Given the description of an element on the screen output the (x, y) to click on. 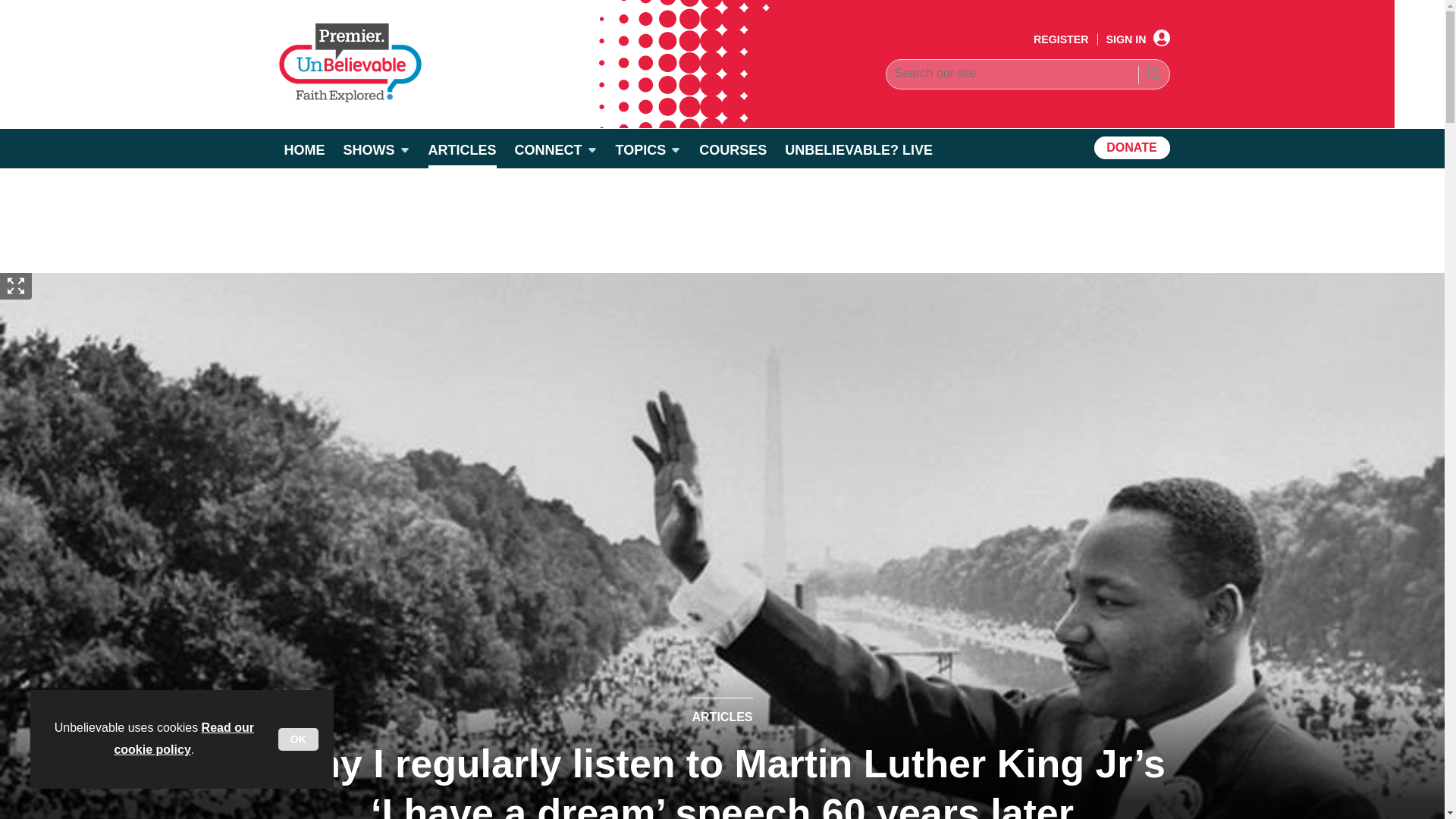
REGISTER (1061, 39)
Read our cookie policy (183, 738)
OK (298, 739)
3rd party ad content (721, 220)
SIGN IN (1138, 39)
SEARCH (1152, 75)
